Given the description of an element on the screen output the (x, y) to click on. 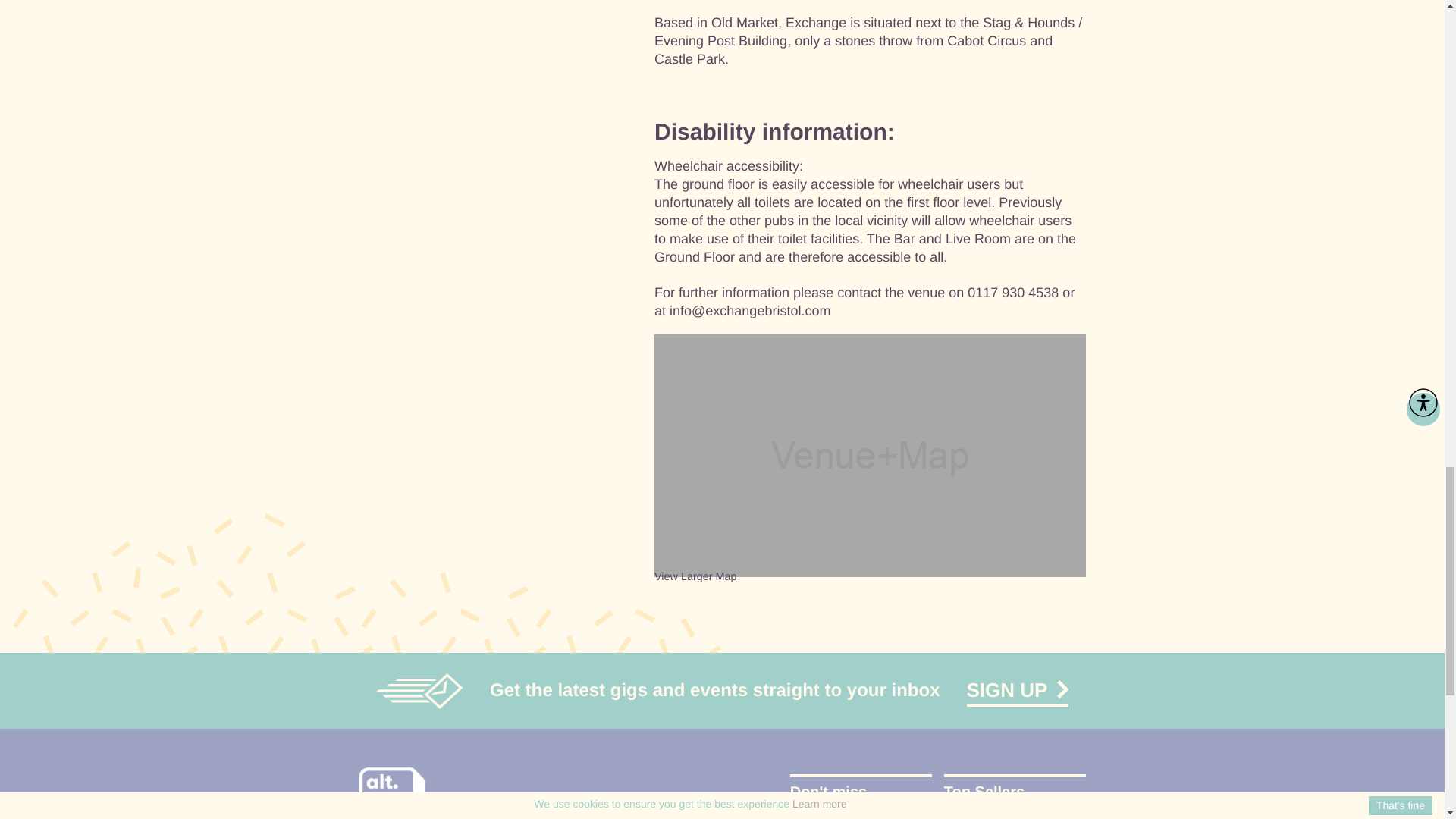
View Larger Map (694, 576)
SIGN UP (1017, 690)
